Given the description of an element on the screen output the (x, y) to click on. 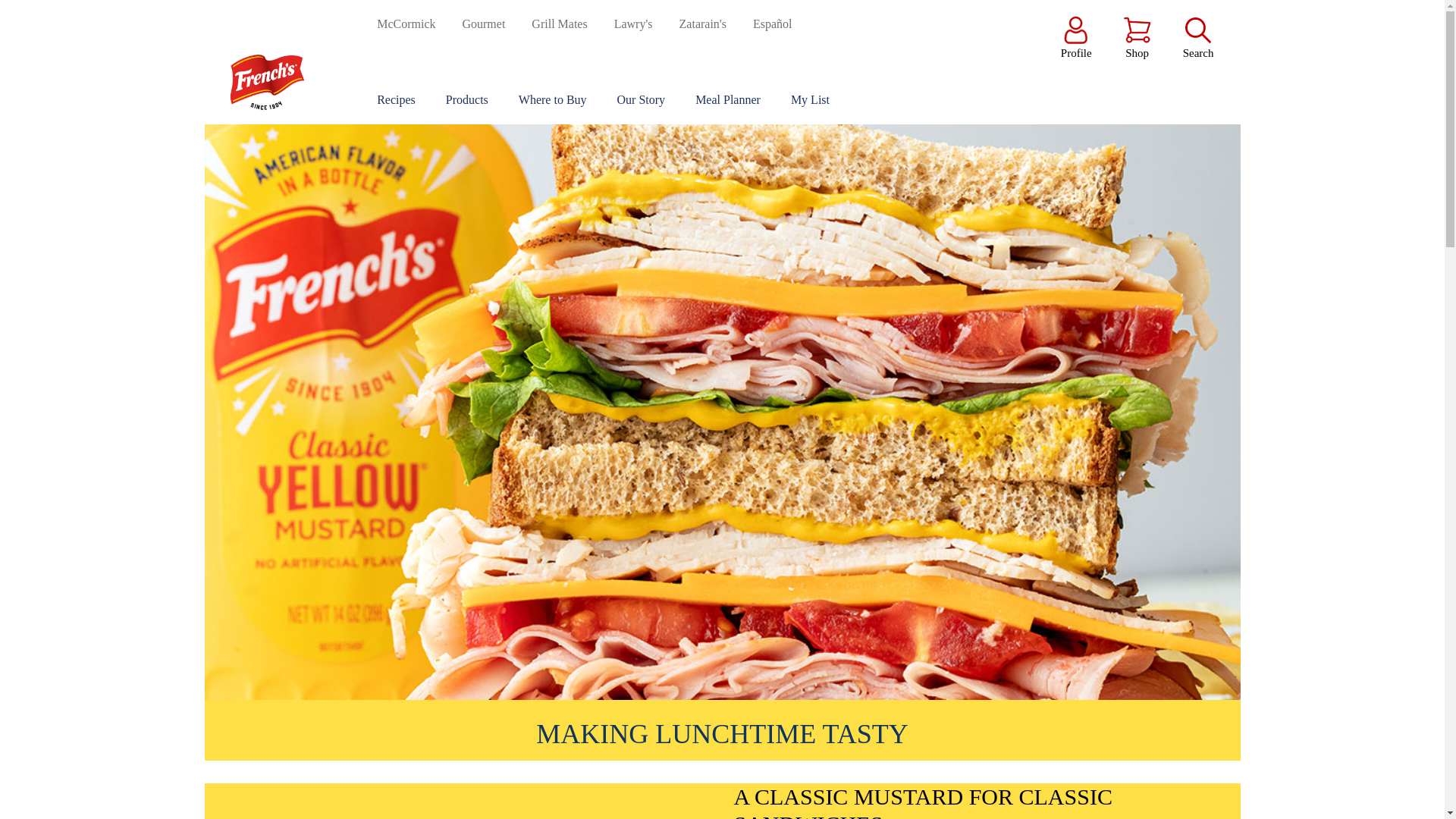
Meal Planner (727, 100)
Gourmet (483, 24)
Where to Buy (552, 100)
Zatarain's (702, 24)
McCormick (406, 24)
Grill Mates (558, 24)
Our Story (641, 100)
My List (816, 100)
